Given the description of an element on the screen output the (x, y) to click on. 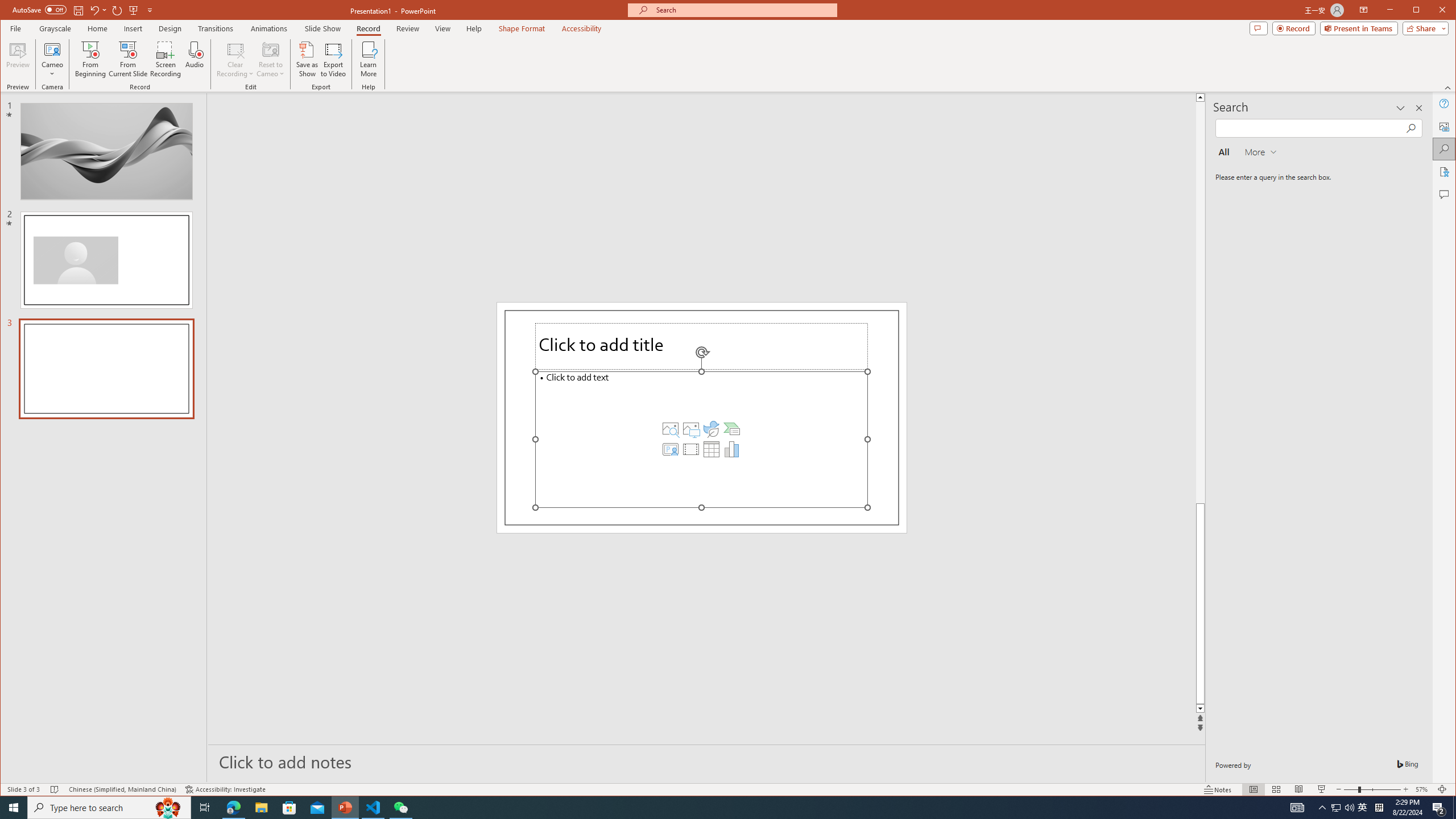
Export to Video (333, 59)
Insert Cameo (670, 449)
Reset to Cameo (269, 59)
